Given the description of an element on the screen output the (x, y) to click on. 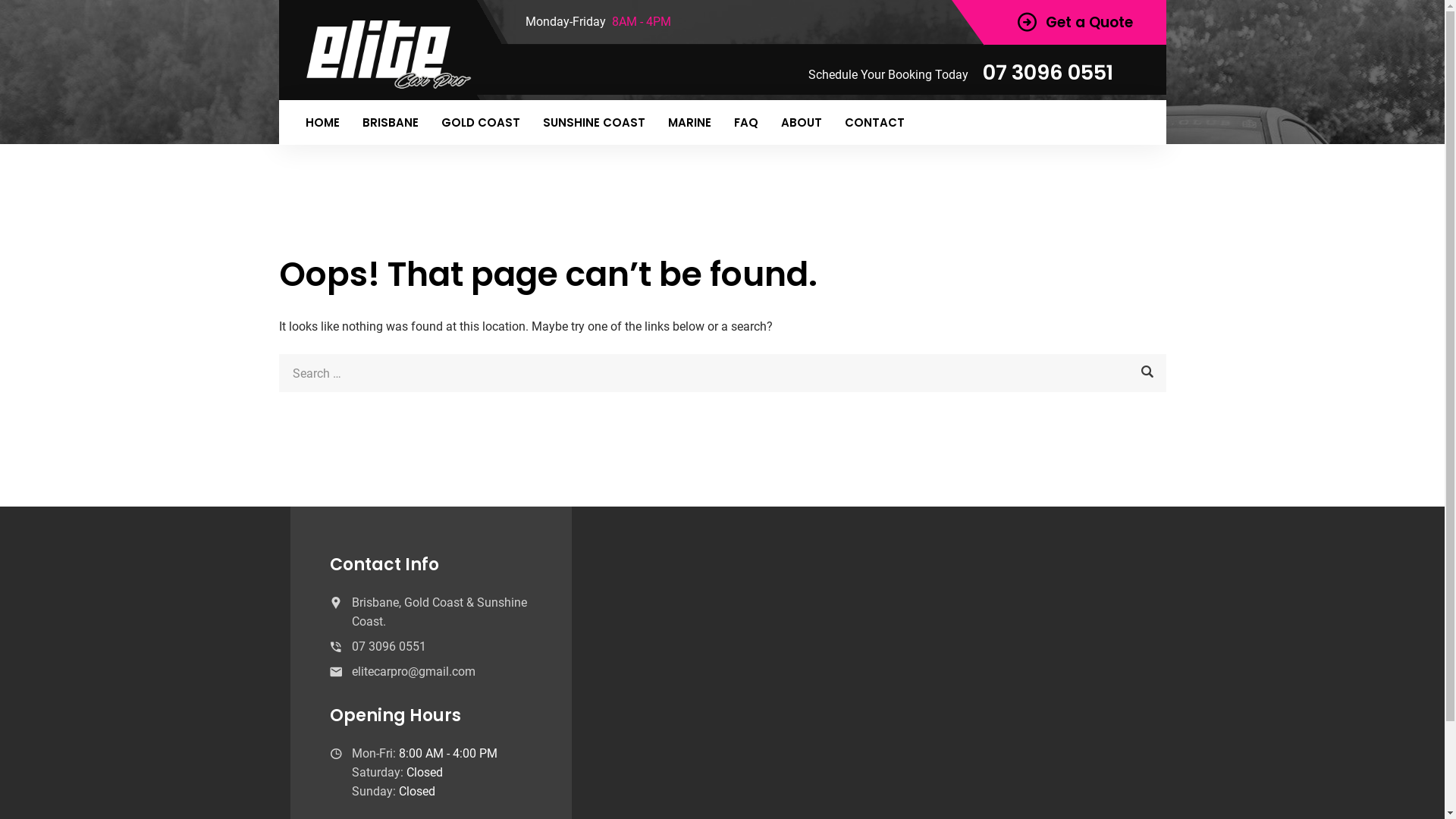
FAQ Element type: text (744, 122)
BRISBANE Element type: text (389, 122)
MARINE Element type: text (689, 122)
HOME Element type: text (322, 122)
elitecarpro@gmail.com Element type: text (413, 671)
Get a Quote Element type: text (1075, 22)
ABOUT Element type: text (800, 122)
GOLD COAST Element type: text (479, 122)
CONTACT Element type: text (873, 122)
SUNSHINE COAST Element type: text (592, 122)
